Given the description of an element on the screen output the (x, y) to click on. 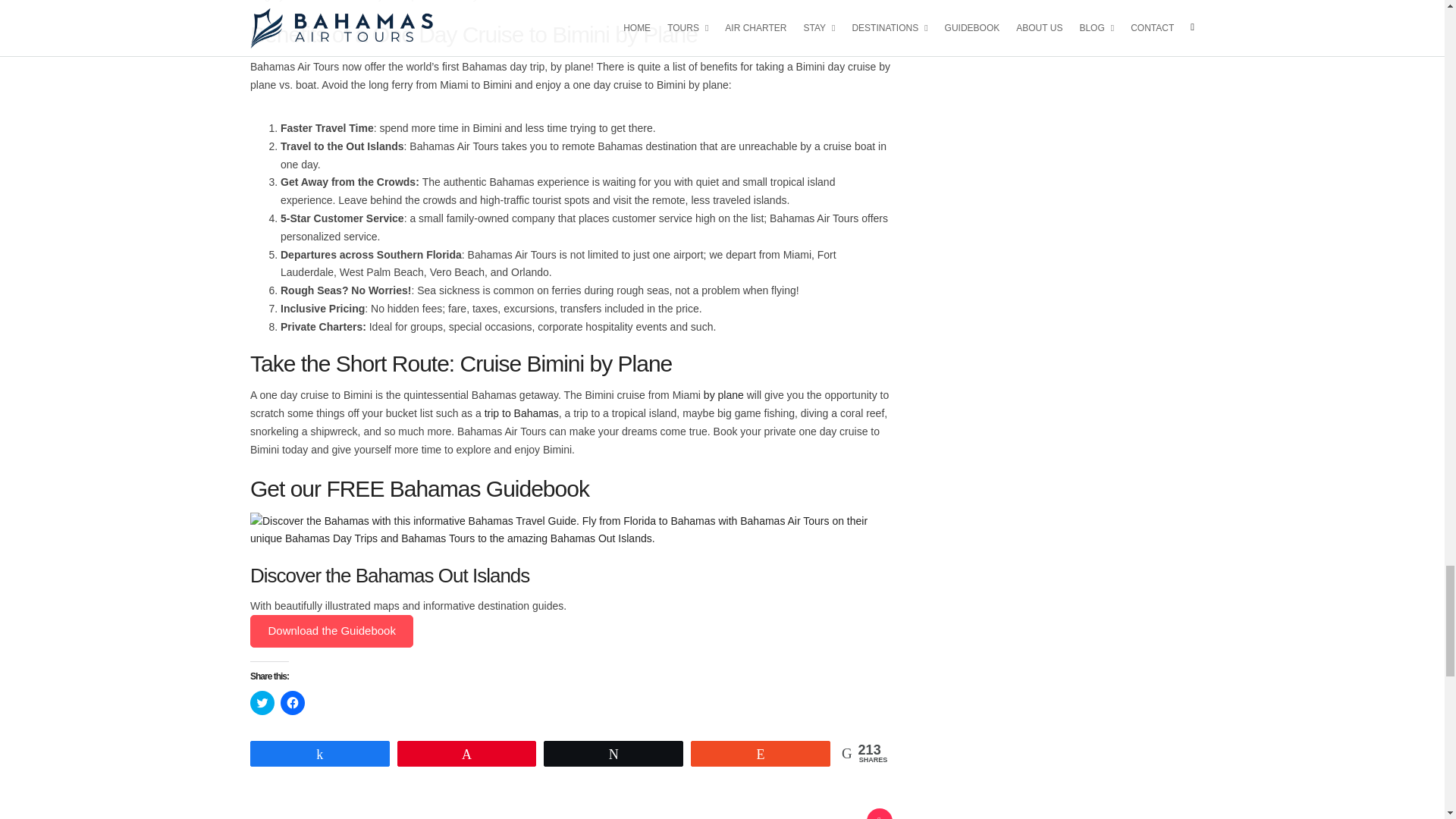
Click to share on Facebook (292, 702)
Click to share on Twitter (262, 702)
